Given the description of an element on the screen output the (x, y) to click on. 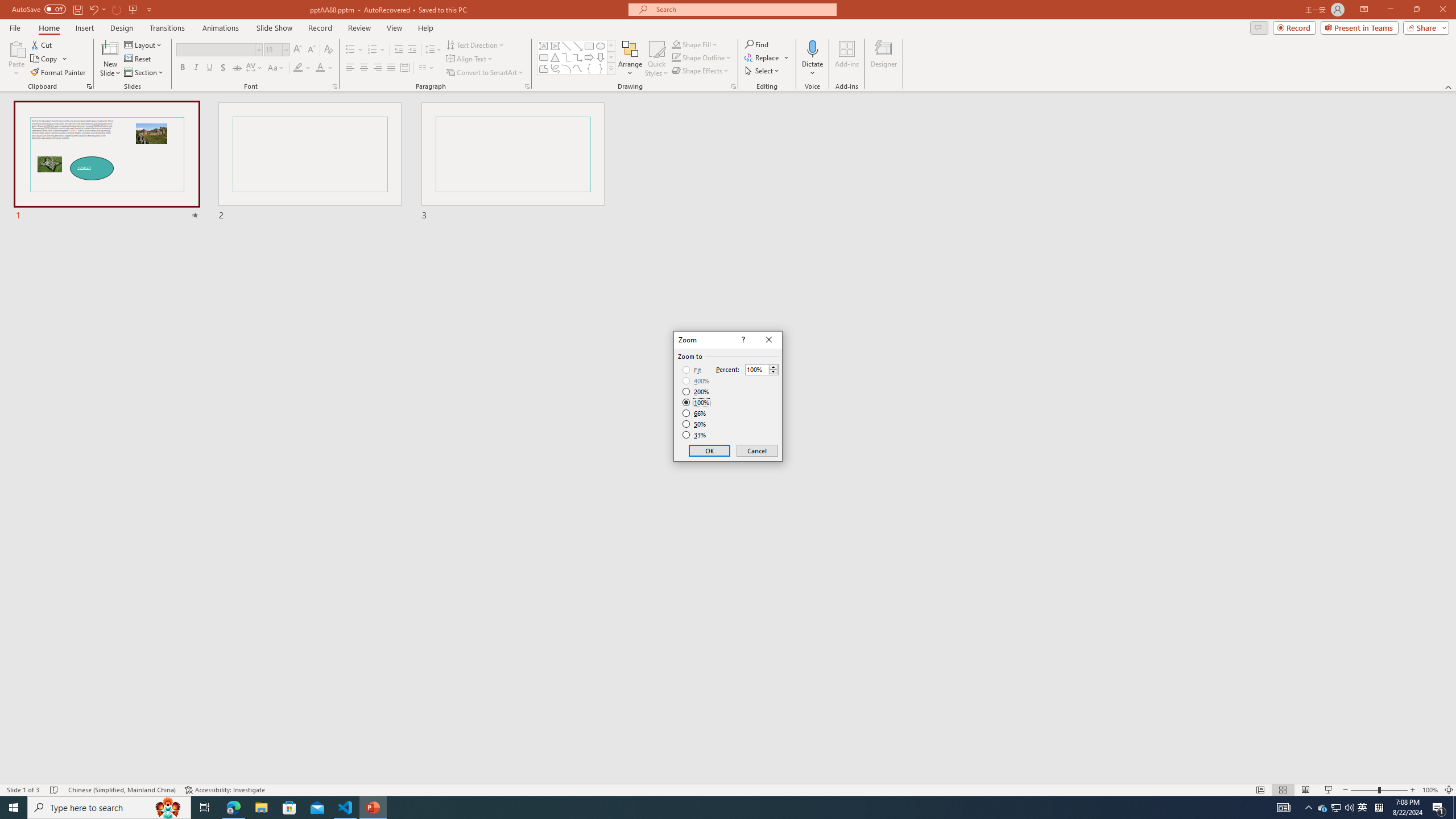
50% (694, 424)
100% (696, 402)
